Given the description of an element on the screen output the (x, y) to click on. 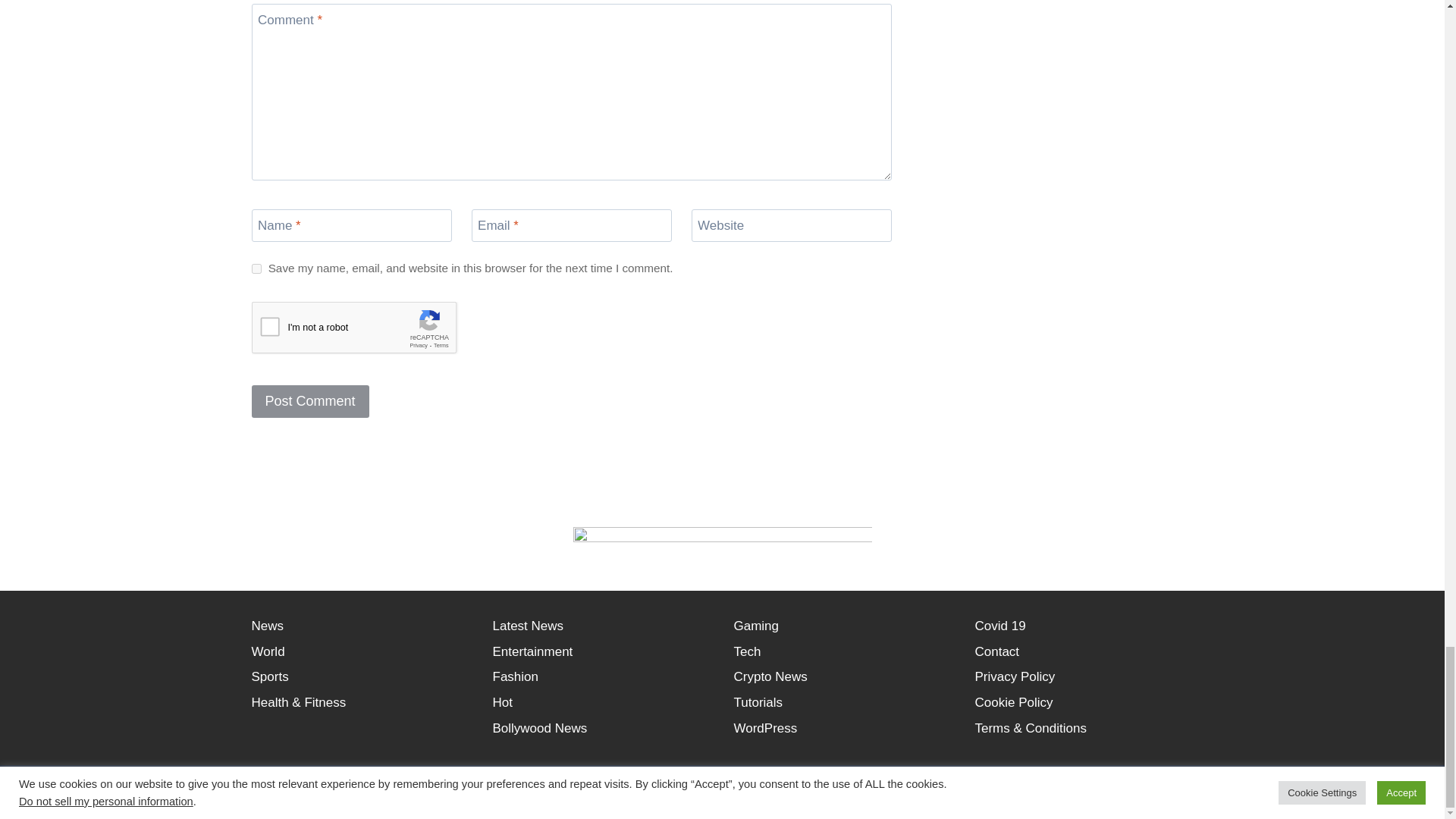
Post Comment (310, 400)
yes (256, 268)
